Given the description of an element on the screen output the (x, y) to click on. 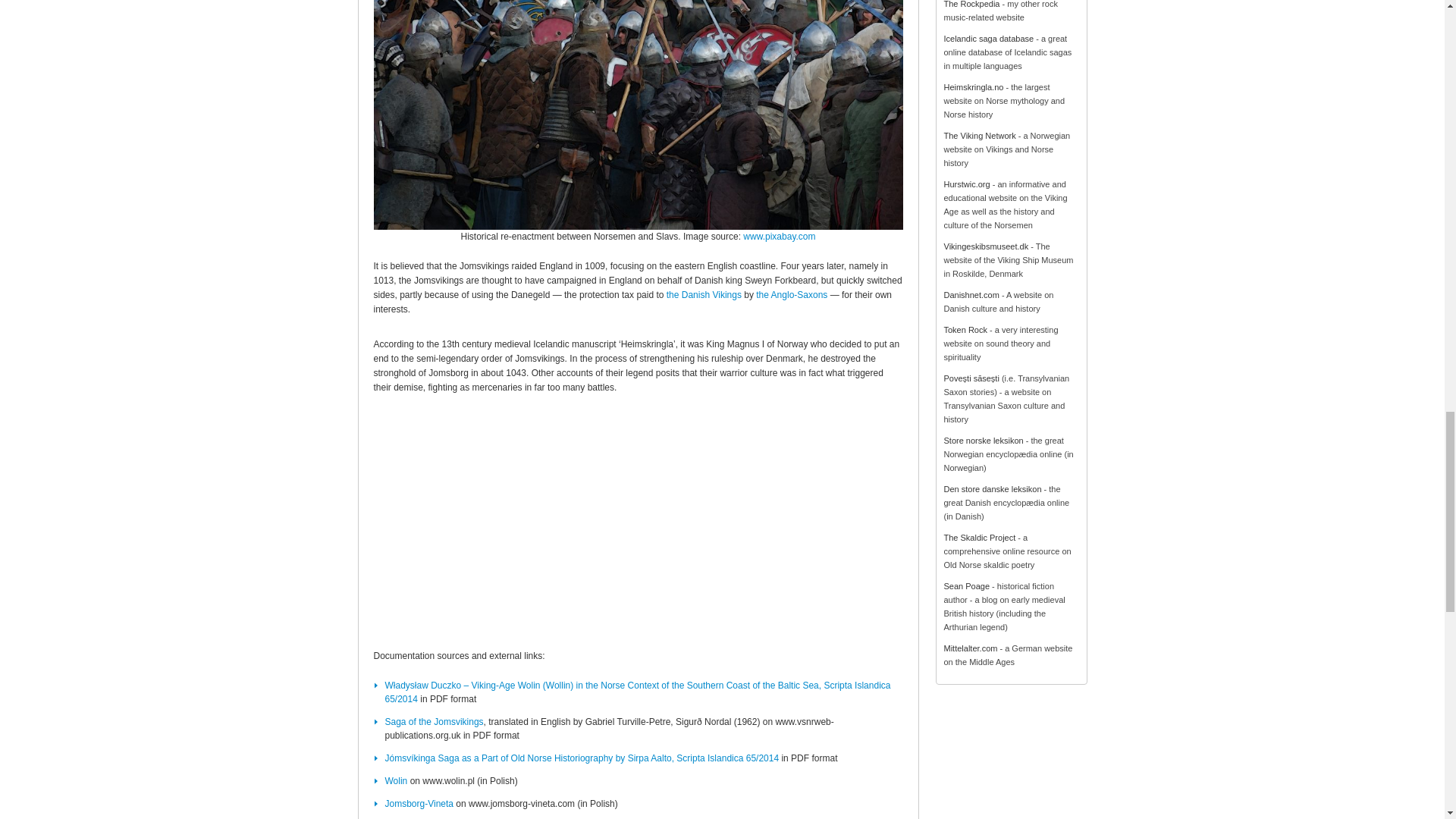
the Danish Vikings (703, 294)
Saga of the Jomsvikings (434, 721)
www.pixabay.com (778, 235)
Wolin (396, 780)
Jomsborg-Vineta (419, 803)
the Anglo-Saxons (791, 294)
